Given the description of an element on the screen output the (x, y) to click on. 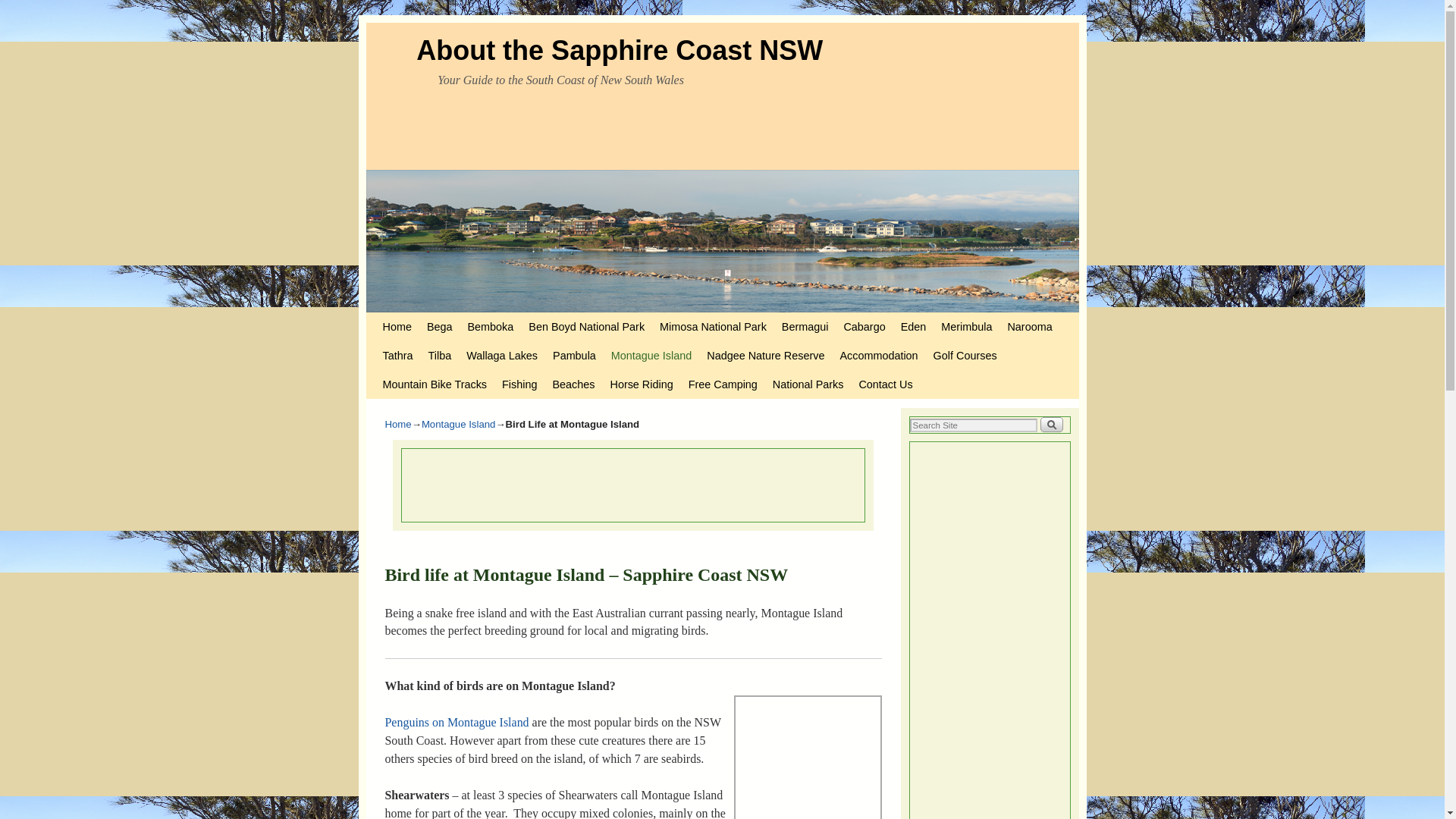
Mimosa National Park (713, 326)
Skip to secondary content (412, 318)
Bemboka (490, 326)
Penguins at Montague Island (457, 721)
Home (396, 326)
About the Sapphire Coast NSW (619, 50)
Advertisement (677, 482)
Bega (439, 326)
Ben Boyd National Park (586, 326)
Skip to primary content (408, 318)
